Given the description of an element on the screen output the (x, y) to click on. 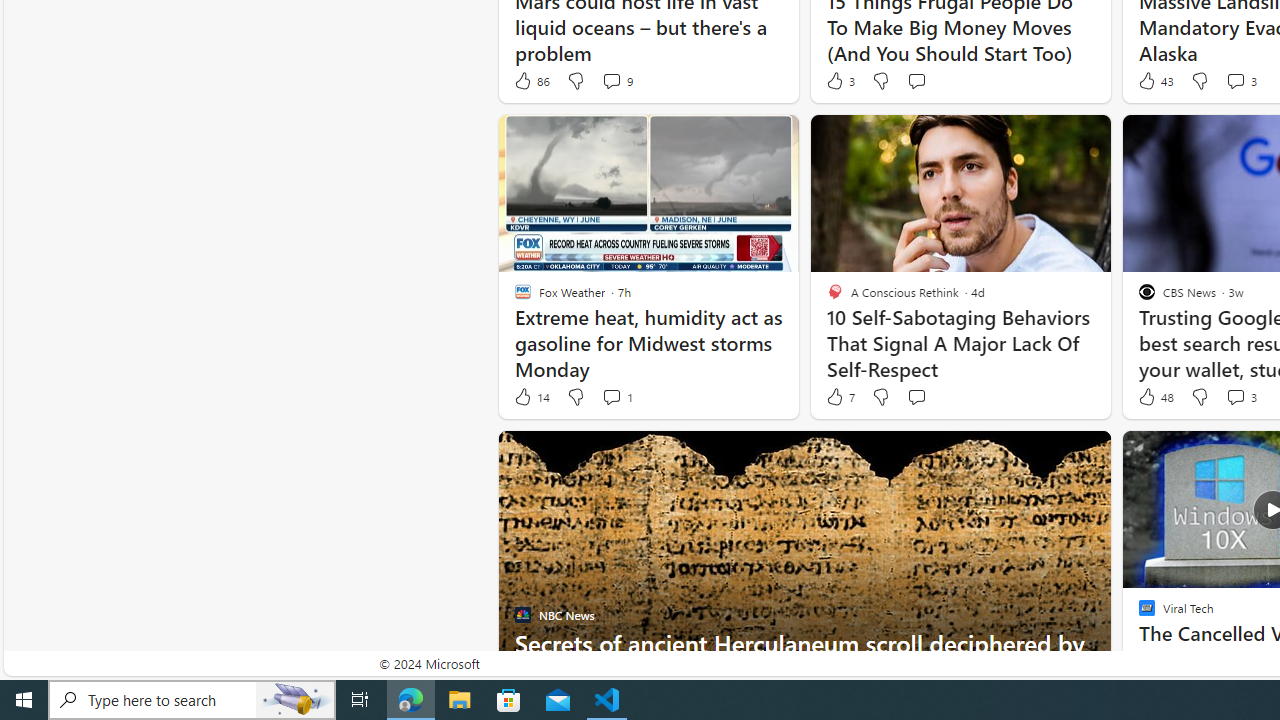
View comments 3 Comment (1234, 396)
View comments 1 Comment (616, 397)
Start the conversation (916, 397)
Hide this story (1050, 454)
View comments 9 Comment (616, 80)
86 Like (531, 80)
View comments 9 Comment (611, 80)
14 Like (531, 397)
Start the conversation (916, 396)
Dislike (1199, 397)
See more (1086, 454)
7 Like (839, 397)
View comments 3 Comment (1240, 397)
3 Like (839, 80)
